Given the description of an element on the screen output the (x, y) to click on. 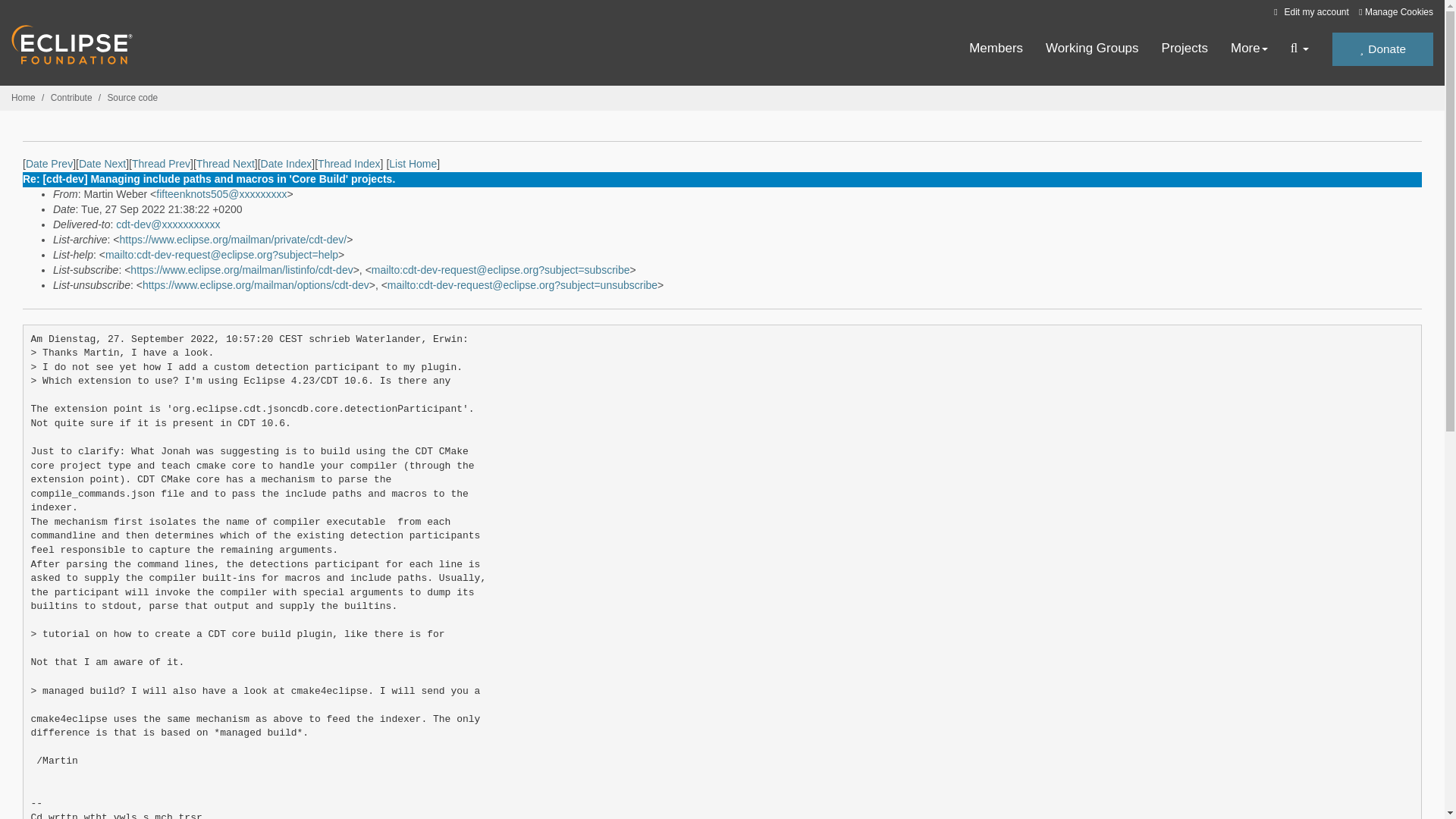
Edit my account (1309, 11)
Working Groups (1091, 48)
Manage Cookies (1395, 12)
Projects (1184, 48)
More (1249, 48)
Members (996, 48)
Donate (1382, 49)
